Given the description of an element on the screen output the (x, y) to click on. 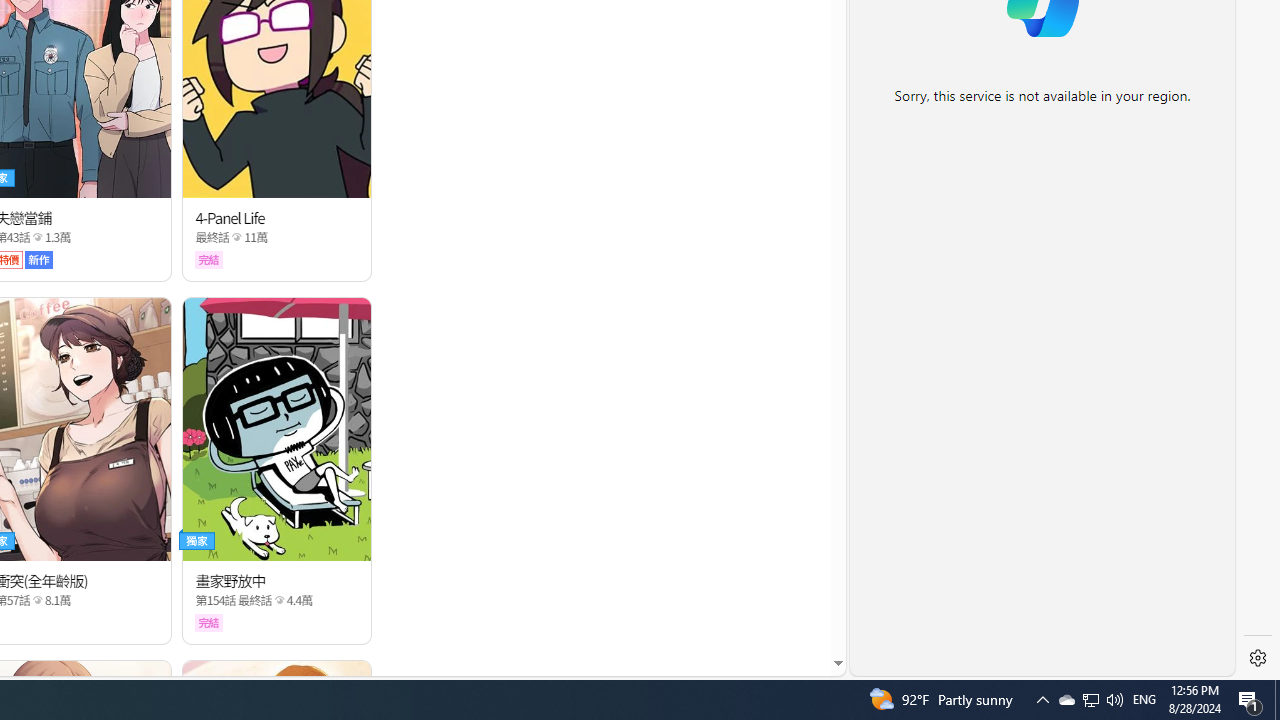
Class: epicon_starpoint (279, 600)
Class: thumb_img (277, 428)
Settings (1258, 658)
